Given the description of an element on the screen output the (x, y) to click on. 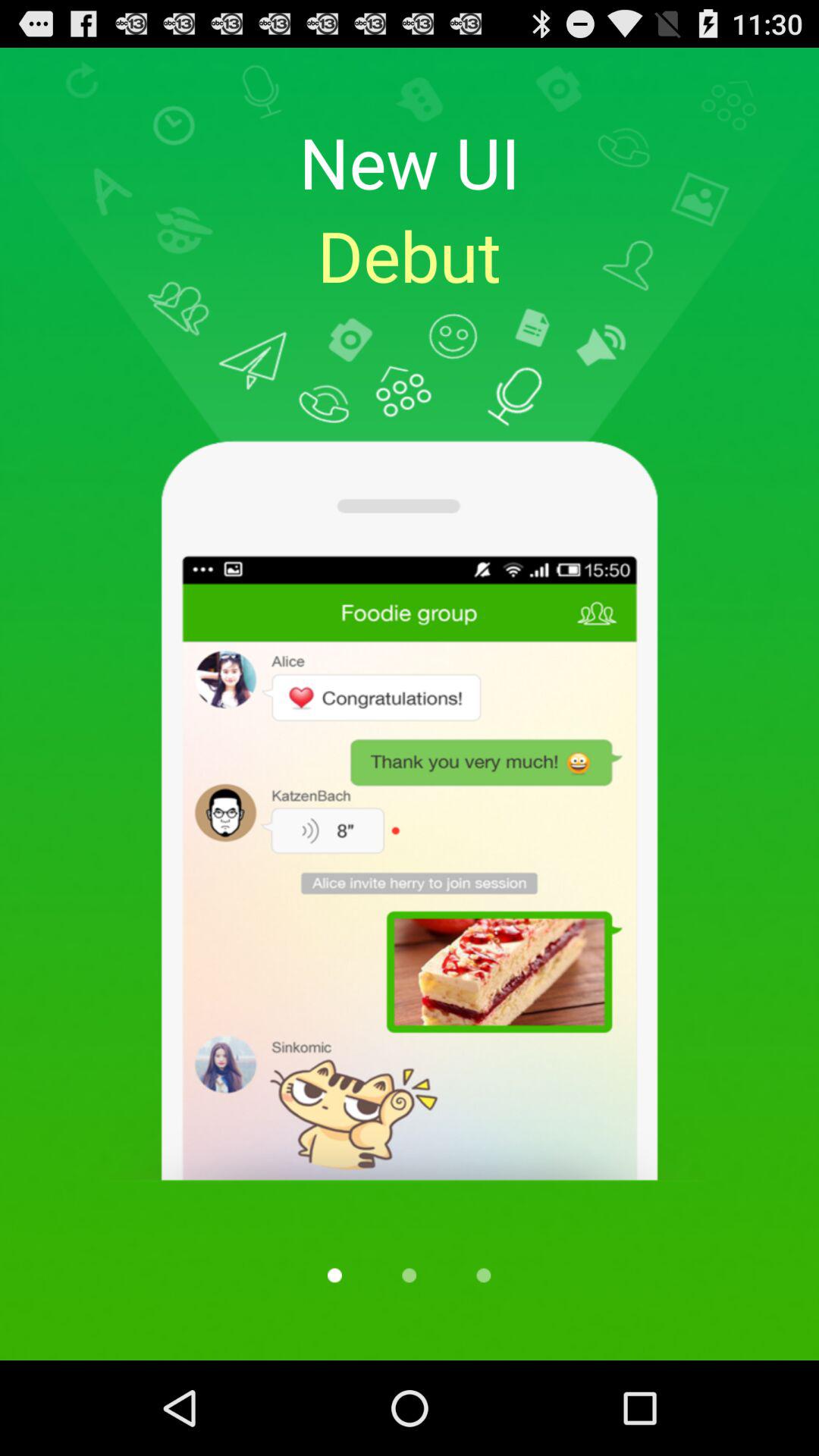
go to next (483, 1275)
